Given the description of an element on the screen output the (x, y) to click on. 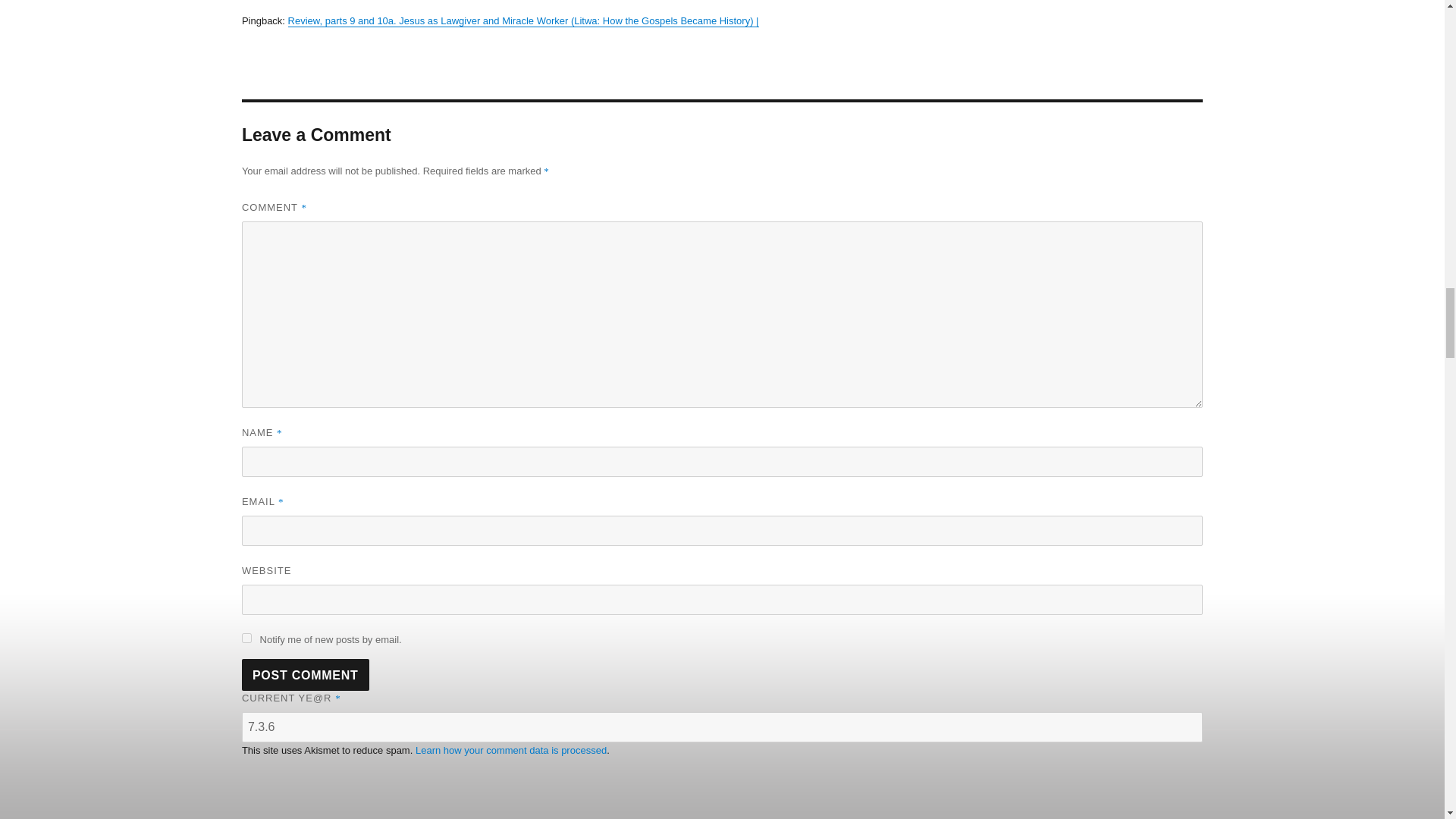
7.3.6 (721, 726)
subscribe (246, 637)
Post Comment (305, 675)
